Given the description of an element on the screen output the (x, y) to click on. 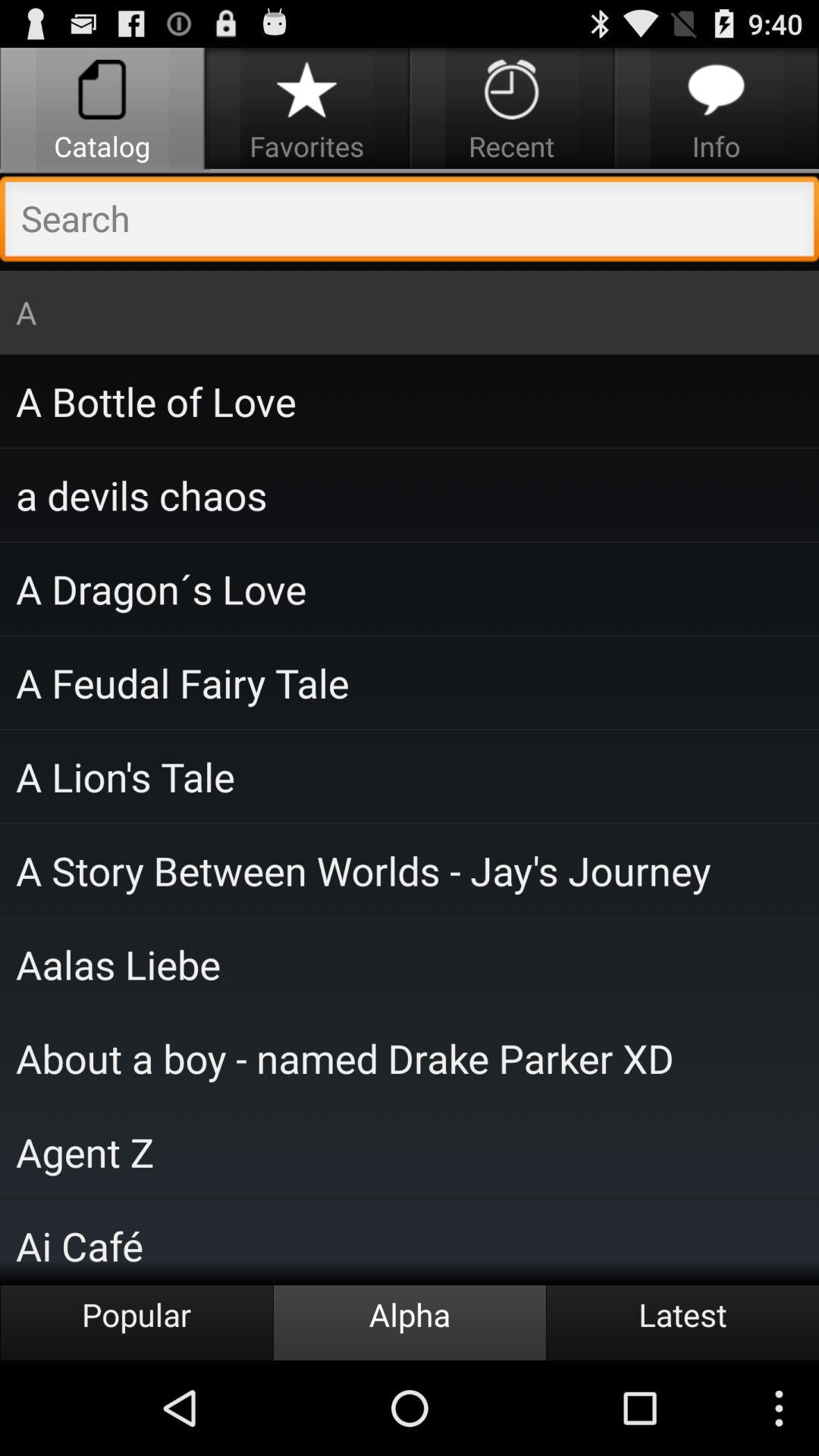
flip to the about a boy icon (409, 1057)
